Given the description of an element on the screen output the (x, y) to click on. 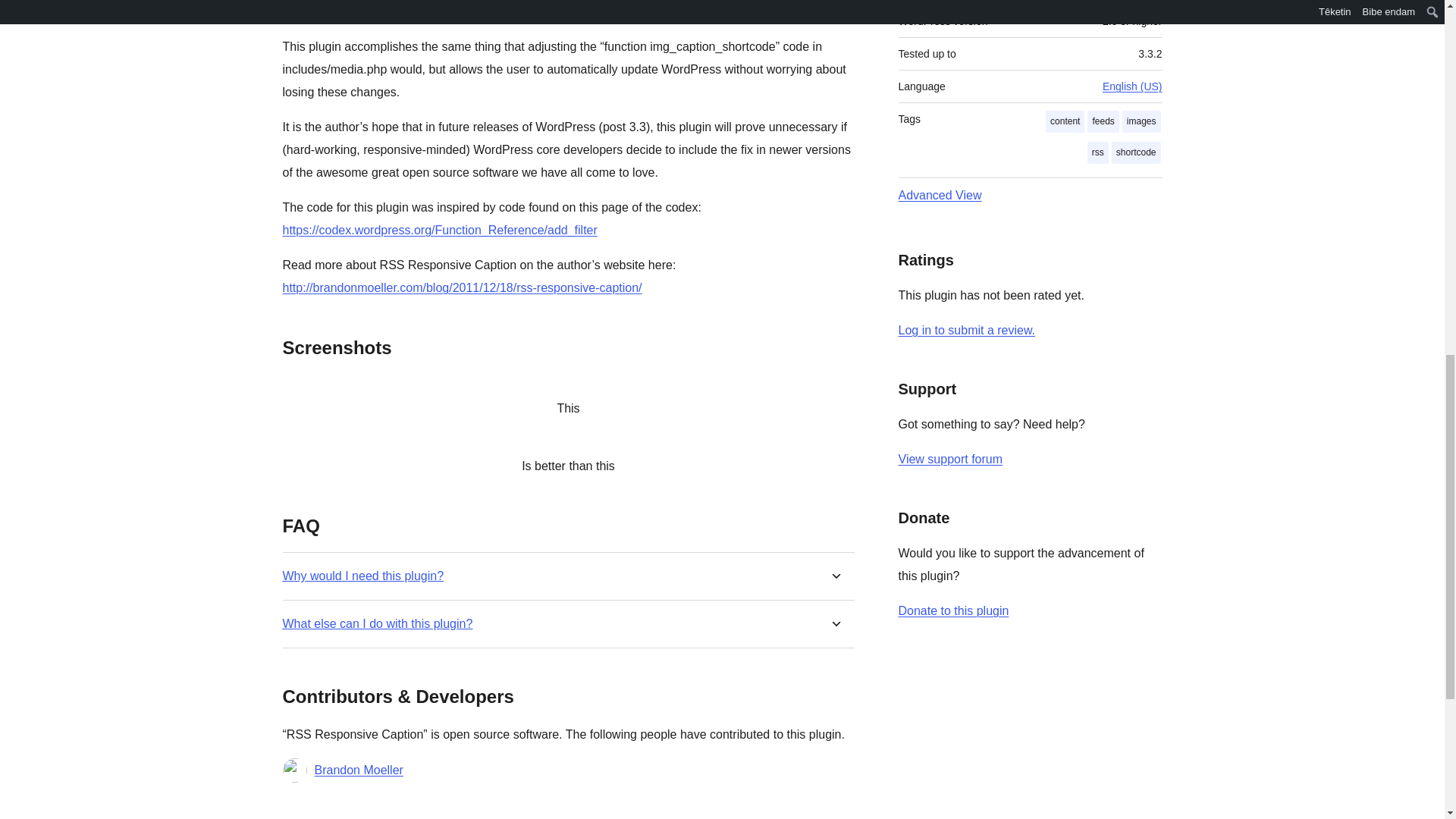
What else can I do with this plugin? (376, 623)
Log in to WordPress.org (966, 329)
Why would I need this plugin? (363, 575)
